Given the description of an element on the screen output the (x, y) to click on. 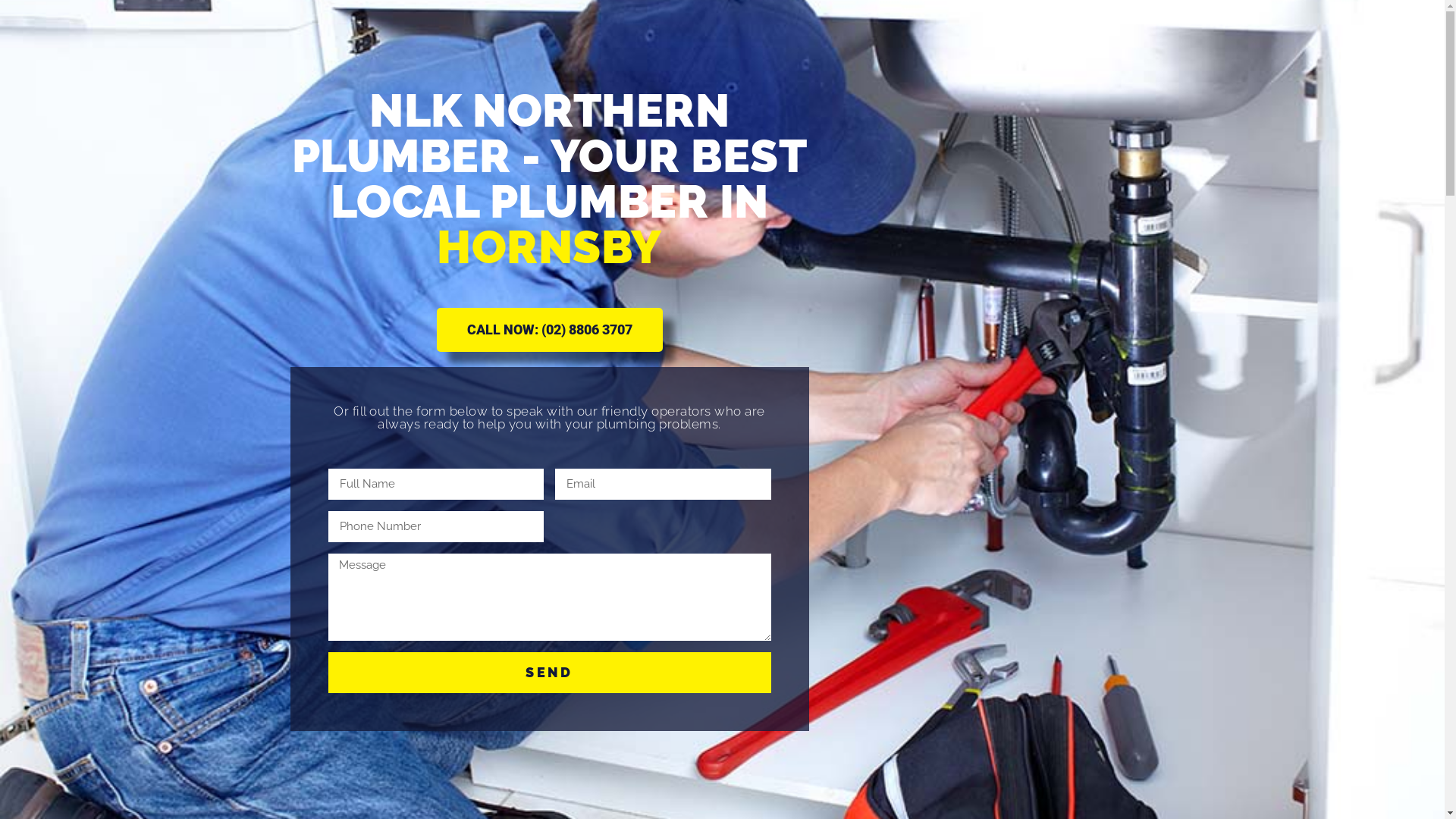
CALL NOW: (02) 8806 3707 Element type: text (549, 329)
SEND Element type: text (548, 672)
